Given the description of an element on the screen output the (x, y) to click on. 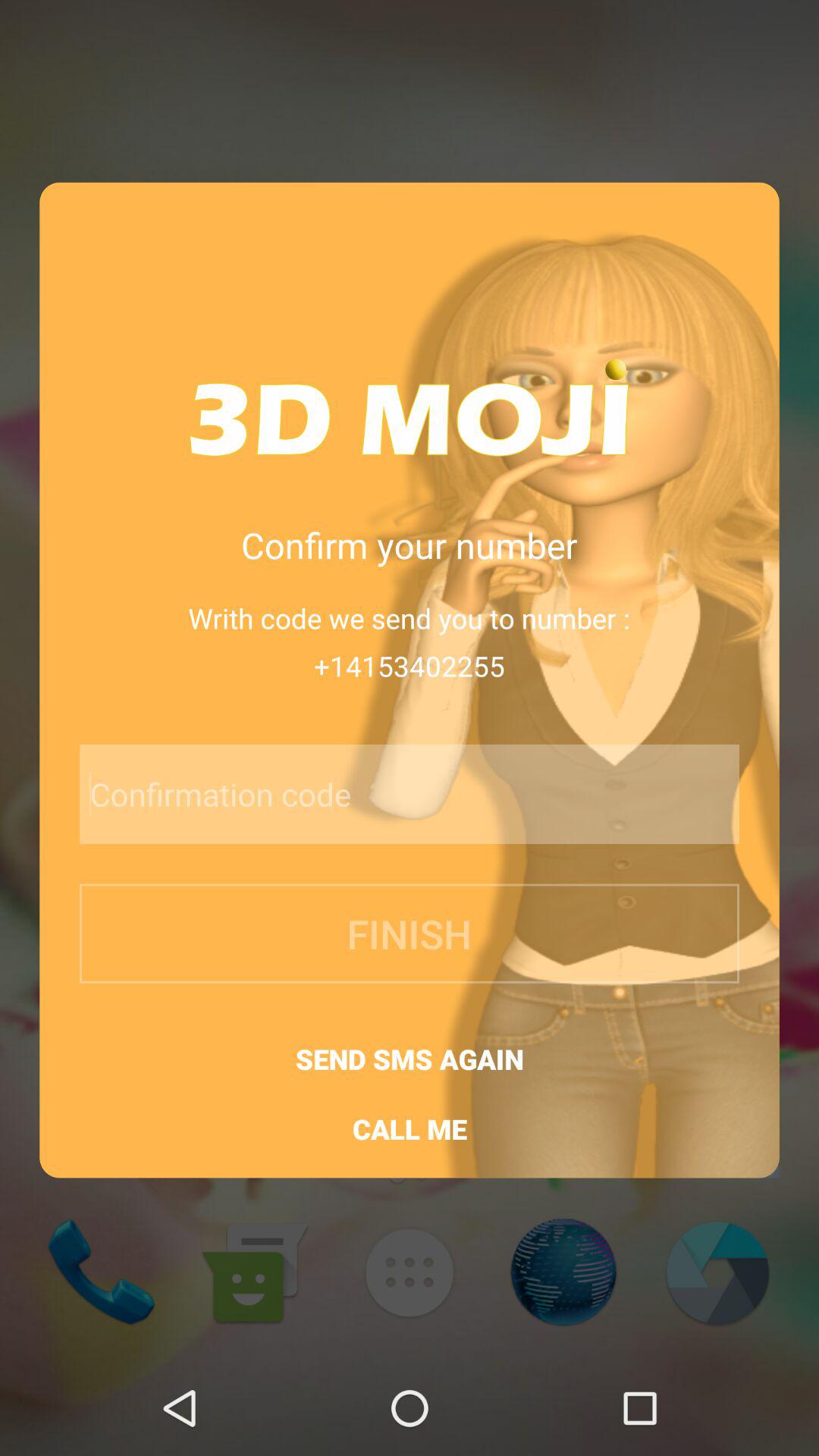
click the button below the finish (409, 1059)
